Given the description of an element on the screen output the (x, y) to click on. 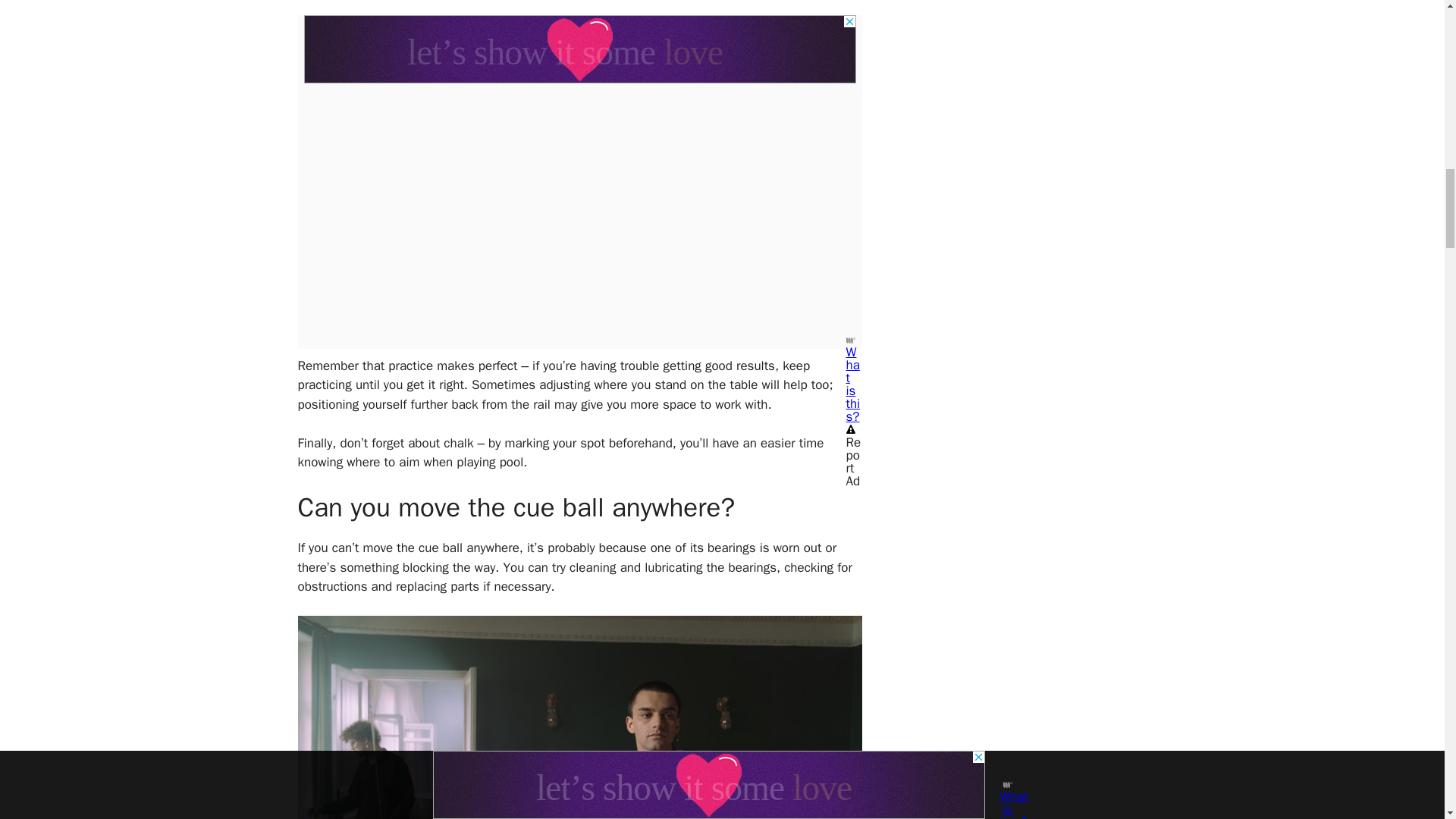
3rd party ad content (579, 49)
